Given the description of an element on the screen output the (x, y) to click on. 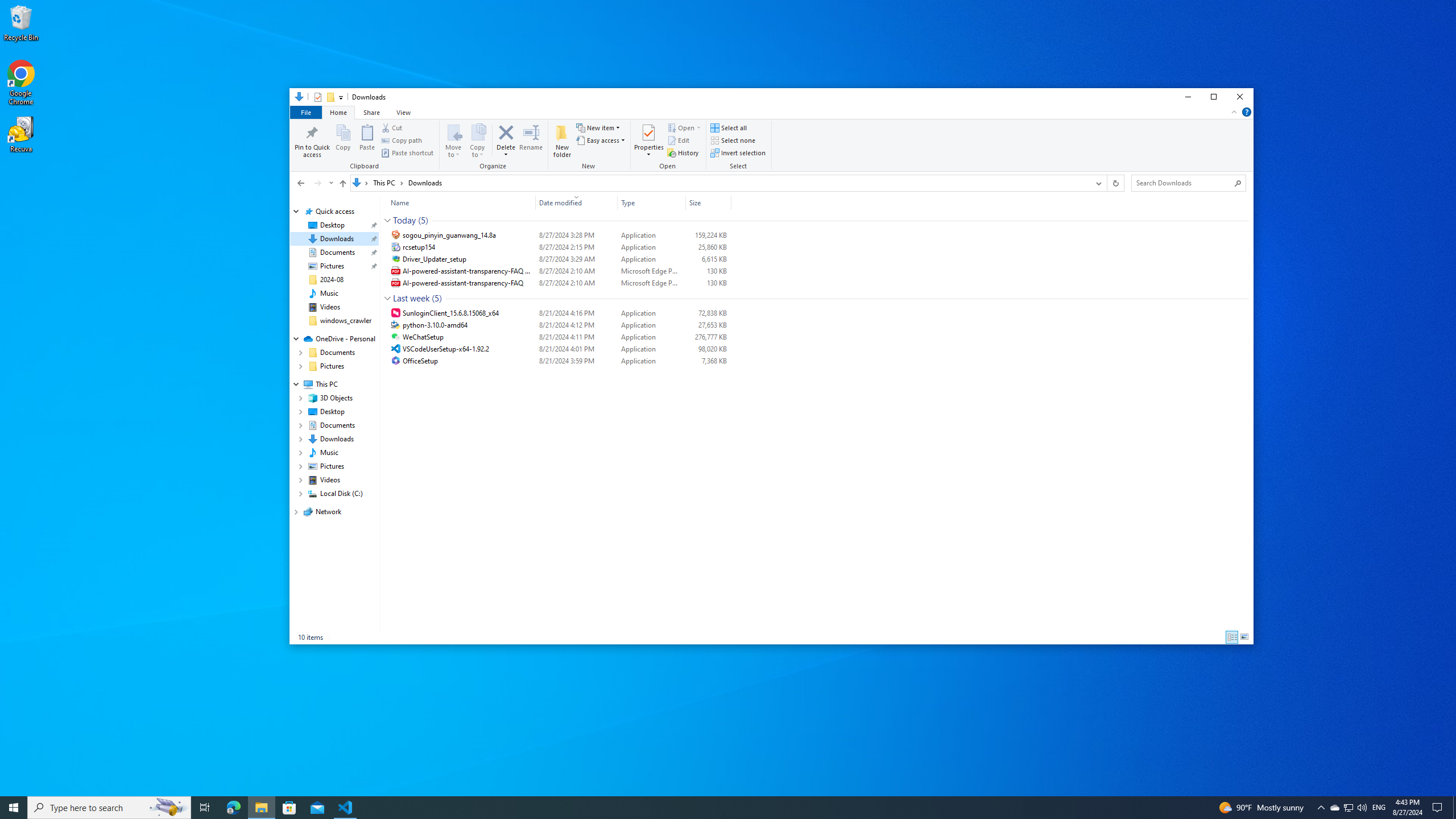
Invert selection (738, 152)
Search (1238, 182)
All locations (360, 182)
AI-powered-assistant-transparency-FAQ (558, 282)
Select (739, 145)
Cut (392, 128)
WeChatSetup (558, 336)
New (589, 145)
Back to Desktop (Alt + Left Arrow) (300, 182)
Customize Quick Access Toolbar (341, 96)
Pin to Quick access (312, 140)
Driver_Updater_setup (558, 259)
Copy to (477, 140)
New item (598, 128)
